Given the description of an element on the screen output the (x, y) to click on. 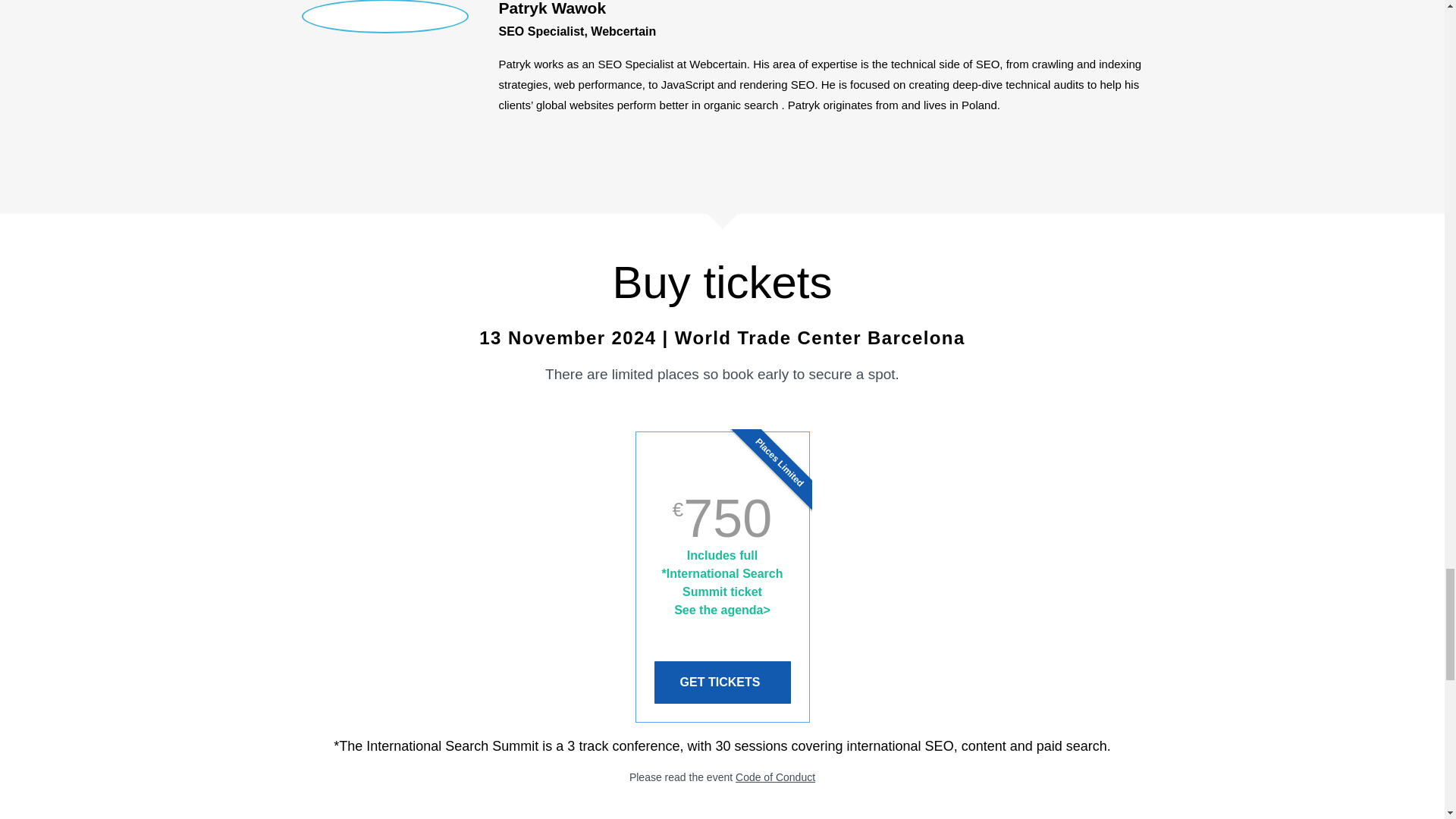
Code of Conduct (775, 776)
GET TICKETS (721, 681)
